Given the description of an element on the screen output the (x, y) to click on. 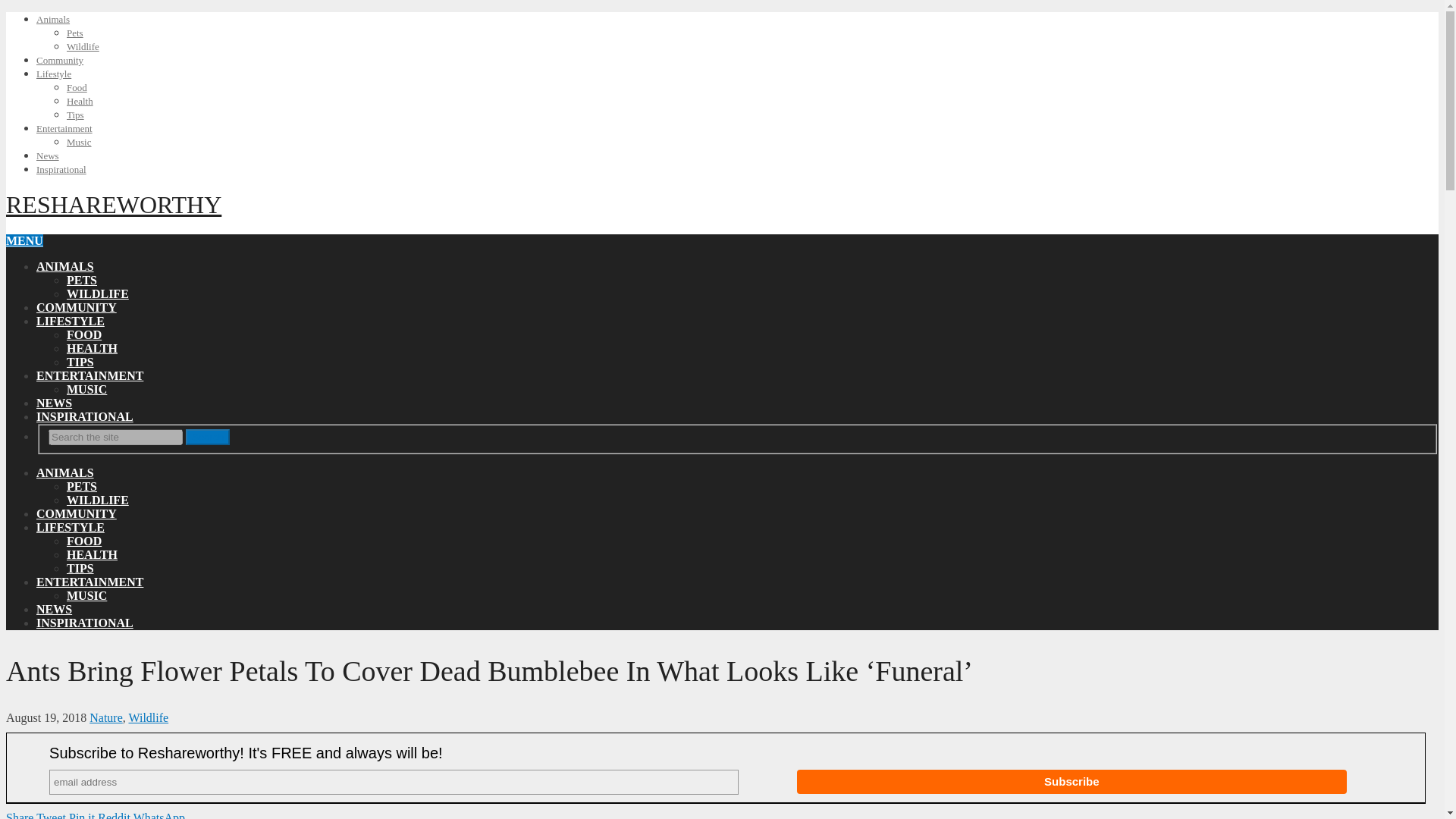
PETS (81, 486)
ANIMALS (65, 472)
COMMUNITY (76, 513)
Subscribe (1072, 781)
Food (76, 87)
Animals (52, 19)
Music (78, 142)
Tips (75, 114)
WILDLIFE (97, 499)
ANIMALS (65, 266)
Community (59, 60)
ENTERTAINMENT (89, 375)
Inspirational (60, 169)
HEALTH (91, 554)
Search (208, 437)
